Given the description of an element on the screen output the (x, y) to click on. 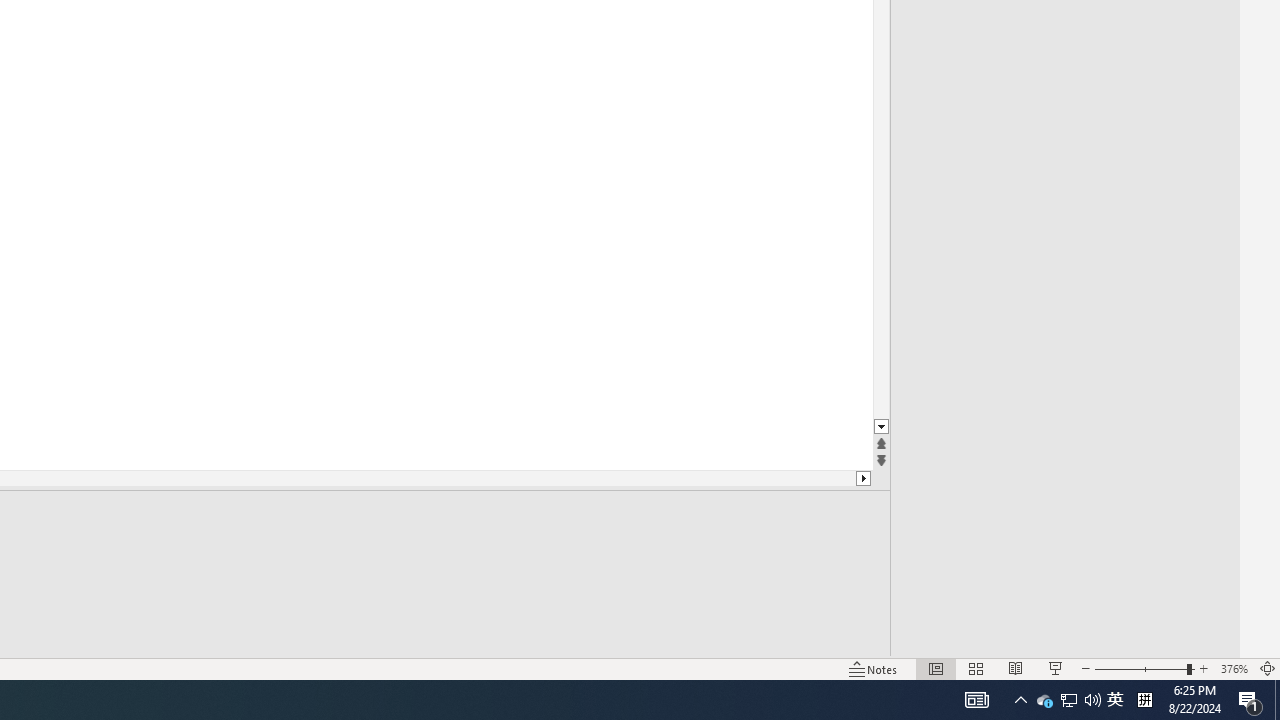
Zoom 376% (1234, 668)
